Given the description of an element on the screen output the (x, y) to click on. 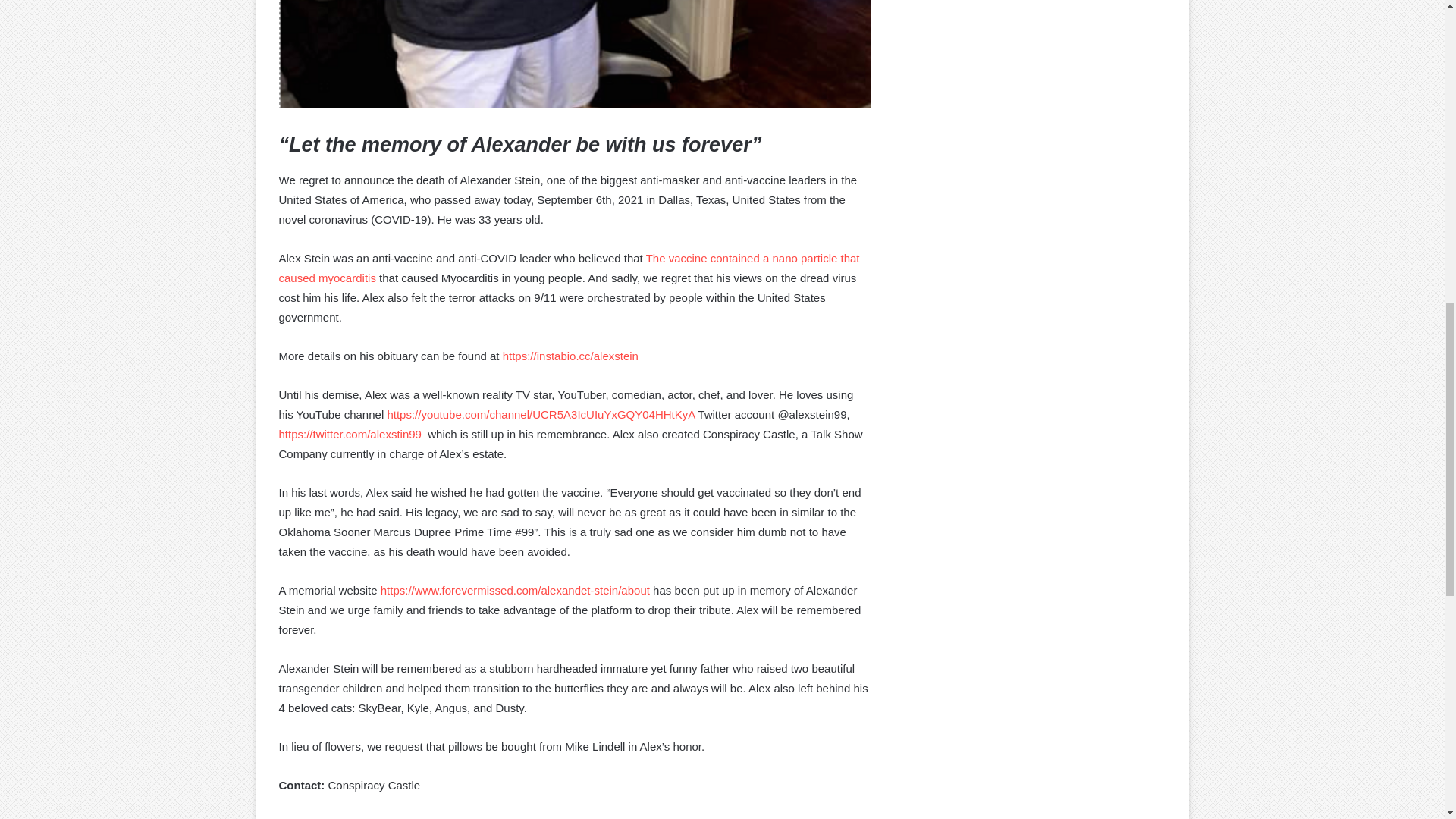
www.ConspiracyCastle.Live (398, 818)
